Given the description of an element on the screen output the (x, y) to click on. 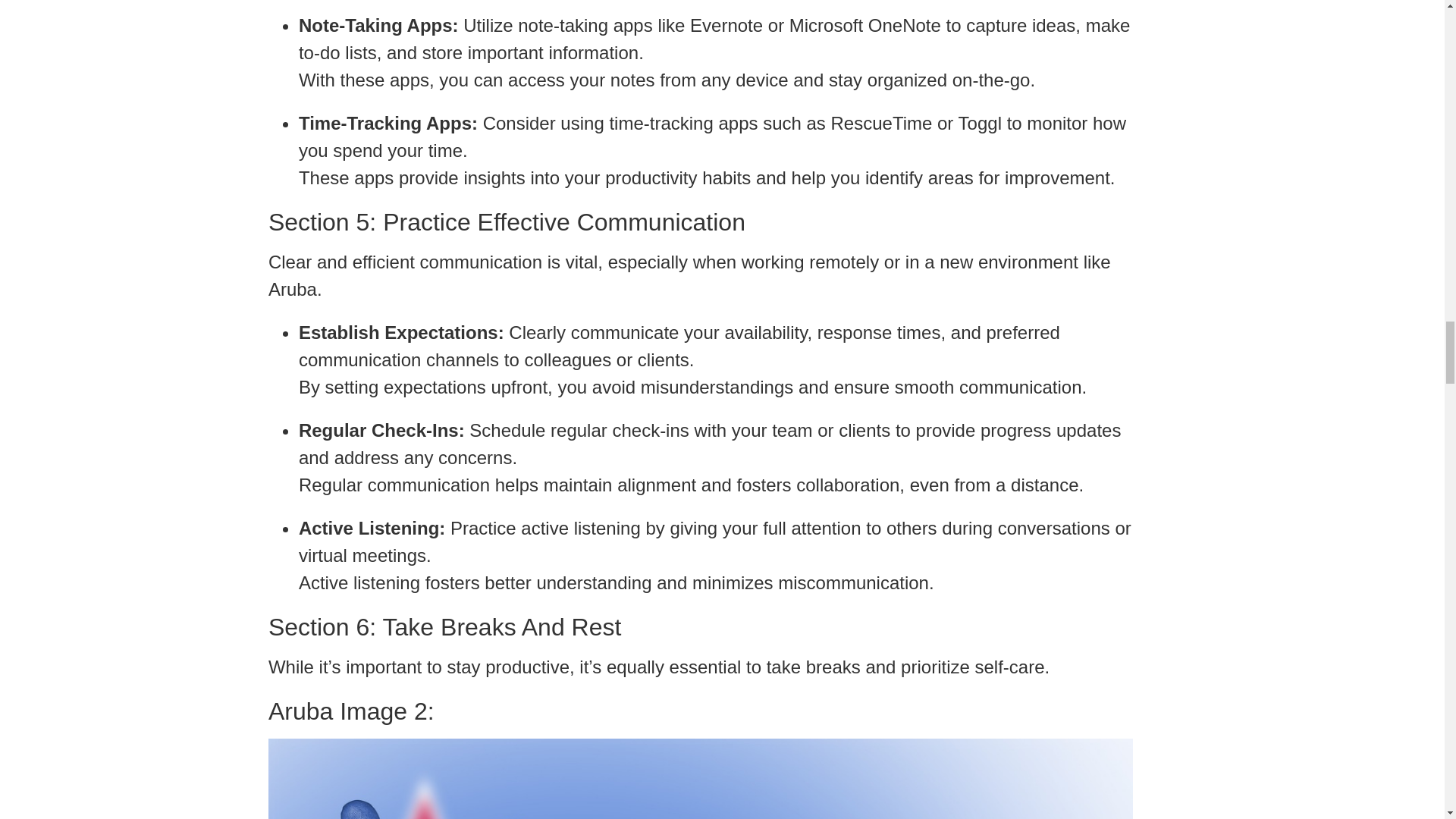
Section 5: Practice Effective Communication (699, 222)
Section 6: Take Breaks and Rest (699, 626)
Aruba Image 2: (699, 710)
